Given the description of an element on the screen output the (x, y) to click on. 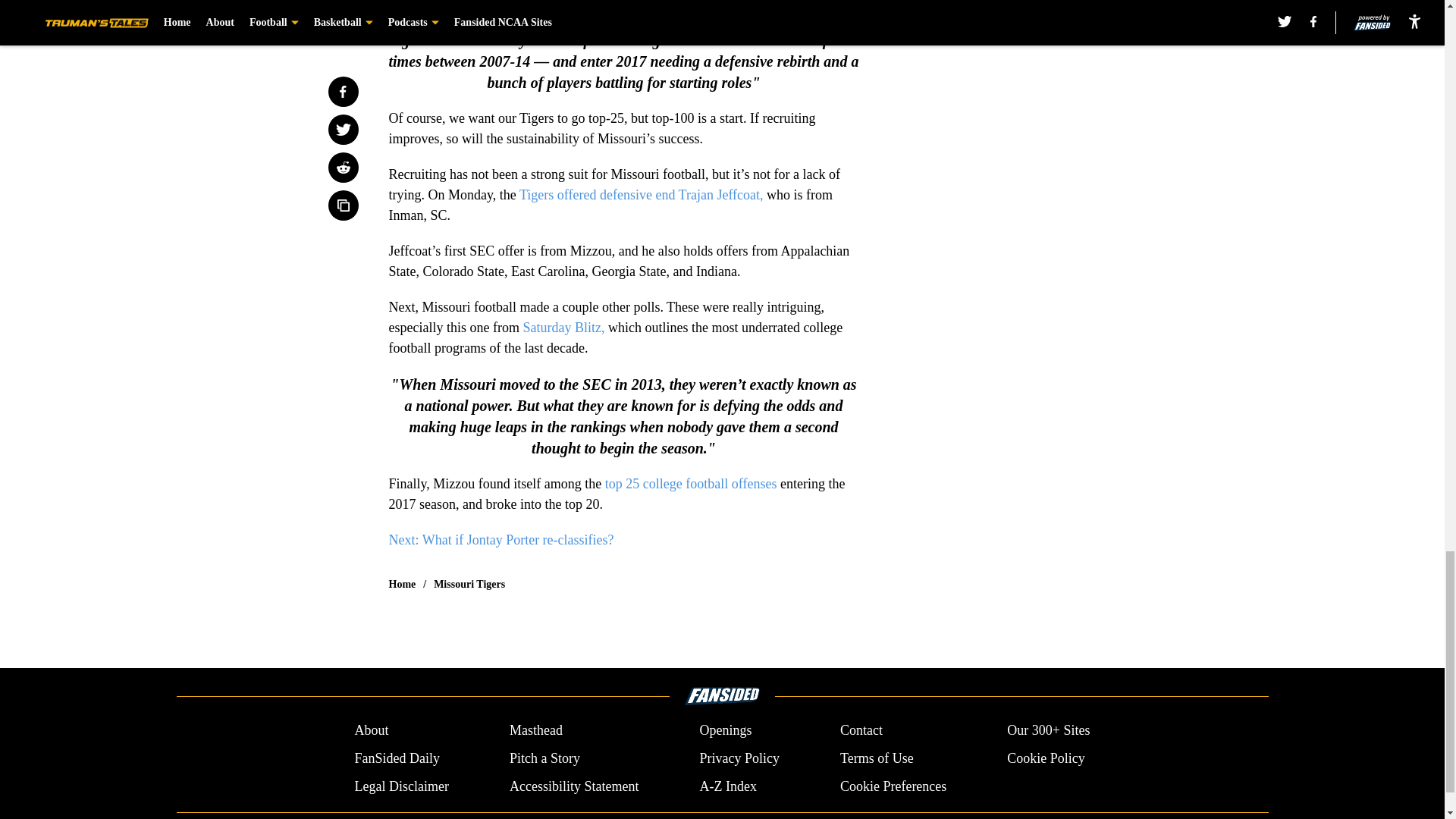
Missouri Tigers (469, 584)
Next: What if Jontay Porter re-classifies? (500, 539)
Home (401, 584)
About (370, 730)
top 25 college football offenses (688, 483)
Tigers offered defensive end Trajan Jeffcoat, (640, 194)
Masthead (535, 730)
Saturday Blitz, (563, 327)
Openings (724, 730)
